Given the description of an element on the screen output the (x, y) to click on. 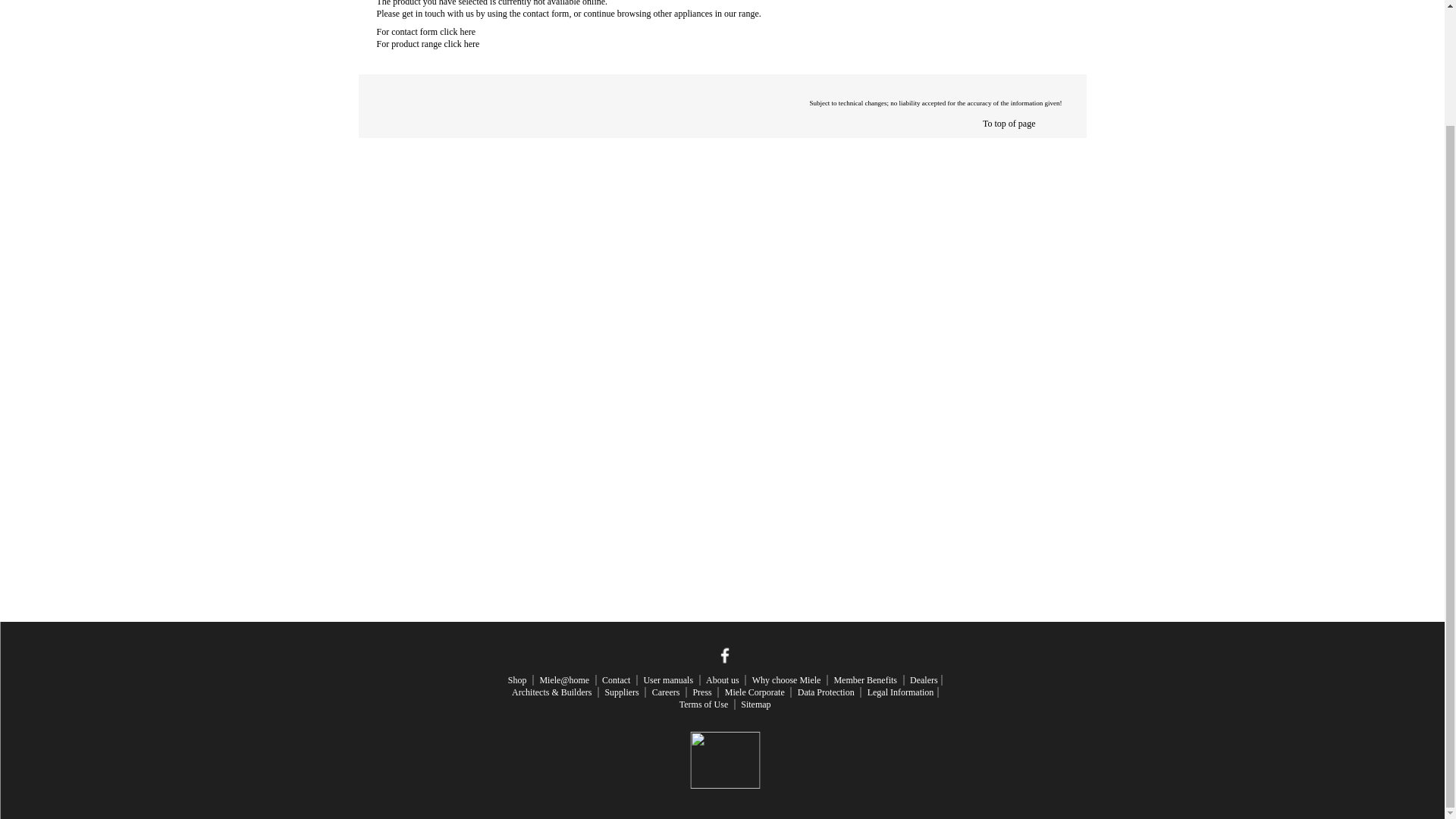
Why choose Miele (786, 679)
Dealers (923, 679)
Careers (665, 692)
Contact (616, 679)
About us (722, 679)
User manuals (668, 679)
Shop (517, 679)
For product range click here (427, 43)
Member Benefits (864, 679)
To top of page (1008, 122)
